Given the description of an element on the screen output the (x, y) to click on. 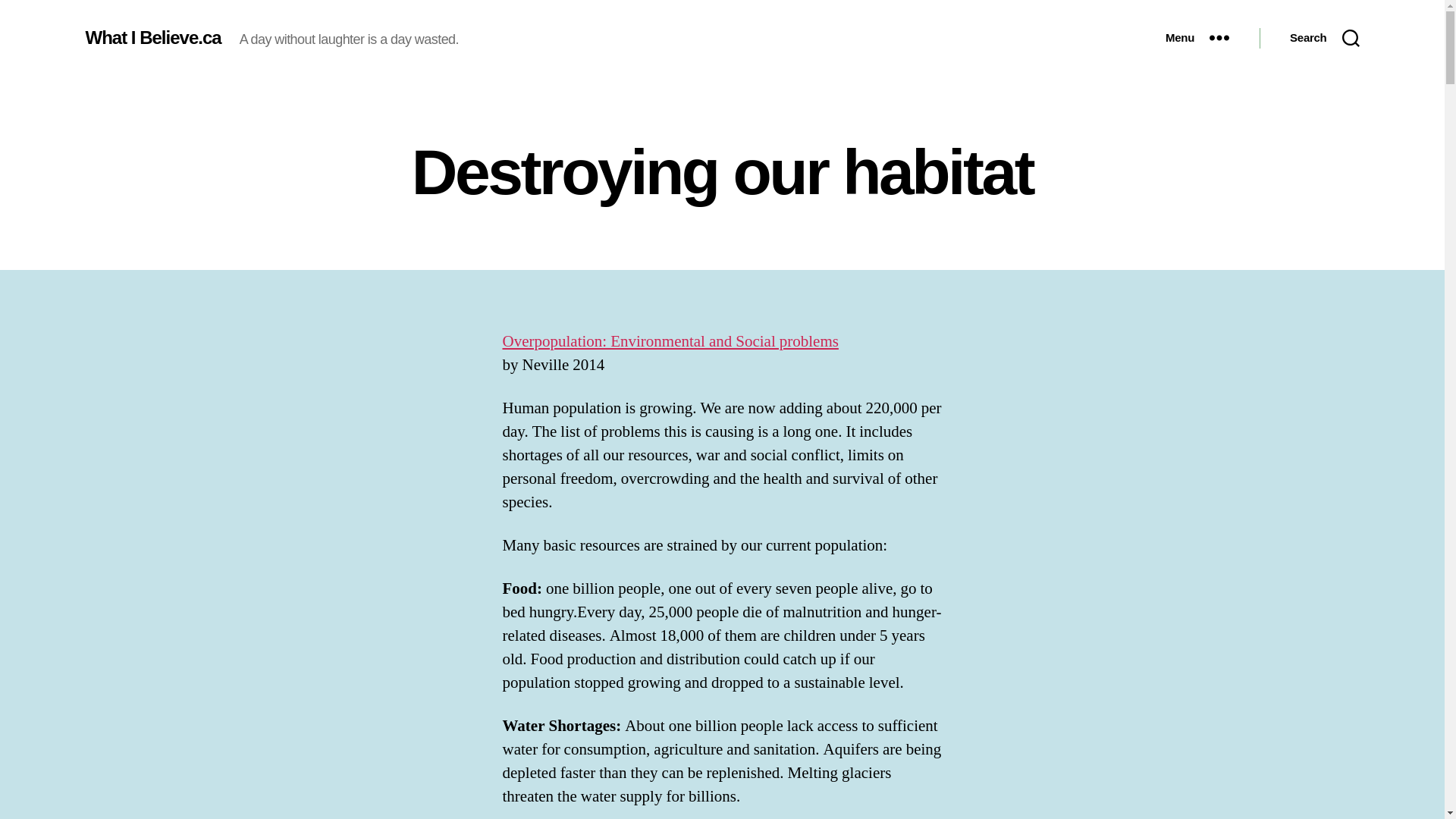
What I Believe.ca (152, 37)
Menu (1197, 37)
Search (1324, 37)
